Given the description of an element on the screen output the (x, y) to click on. 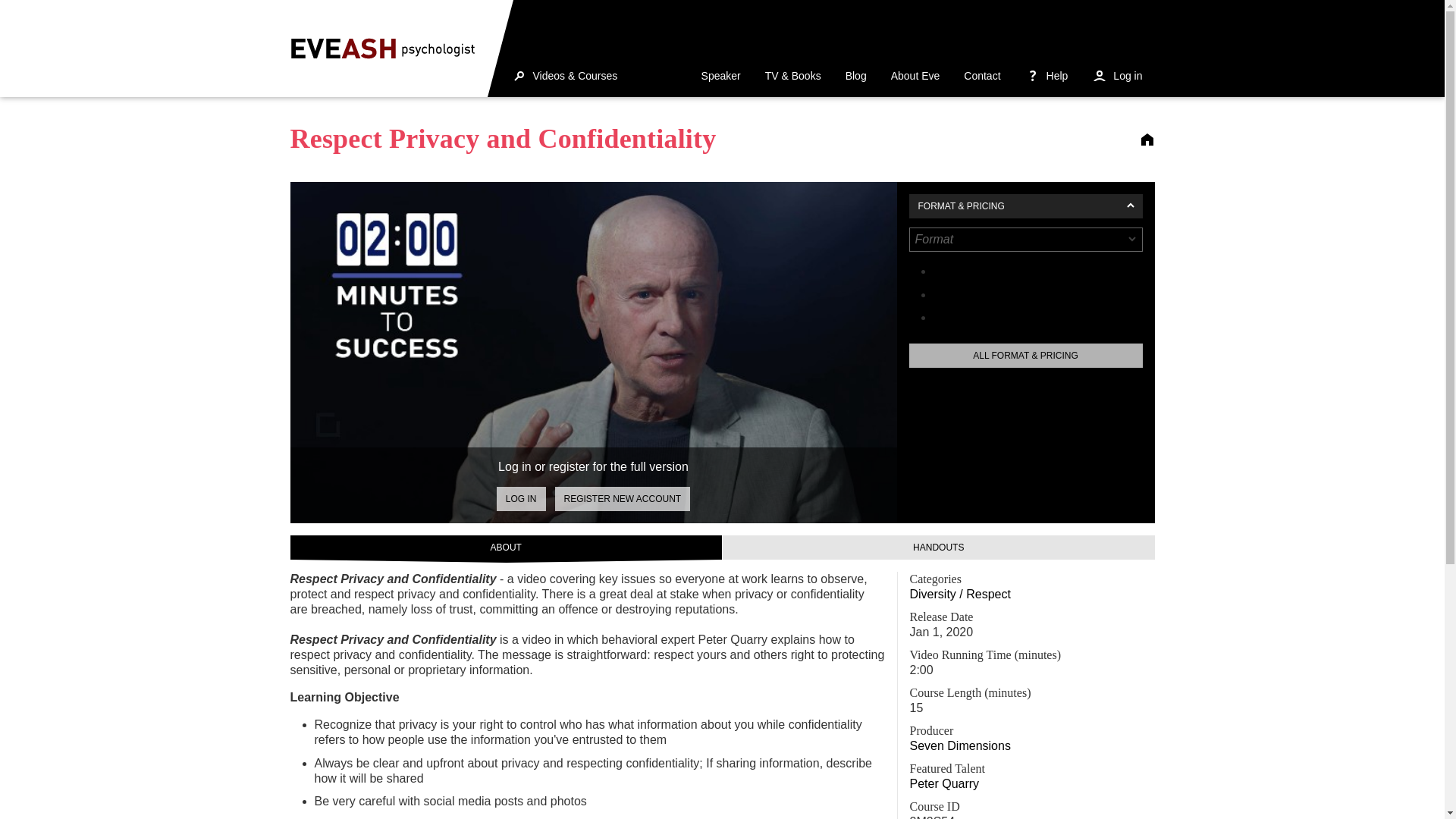
Contact (981, 75)
About Eve (915, 75)
LOG IN (521, 498)
eLearning (960, 294)
Peter Quarry (944, 783)
REGISTER NEW ACCOUNT (622, 498)
Help (1046, 75)
Video (948, 317)
Format (1024, 239)
Speaker (720, 75)
ABOUT (505, 547)
Seven Dimensions (960, 745)
HANDOUTS (938, 547)
Format (952, 270)
Blog (855, 75)
